Given the description of an element on the screen output the (x, y) to click on. 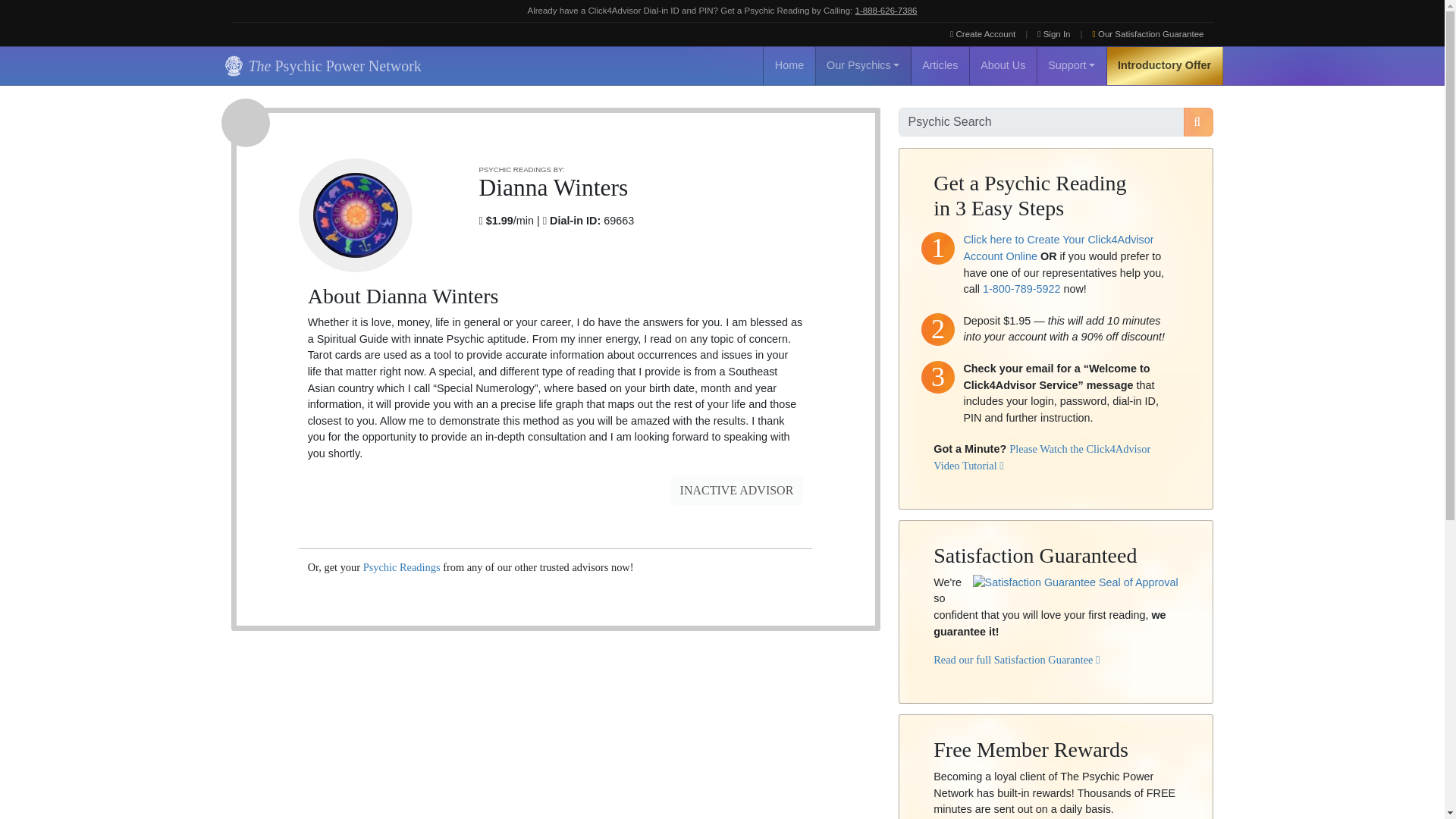
Read our full Satisfaction Guarantee  (1016, 659)
The Psychic Power Network (320, 65)
The Psychic Power Network (320, 65)
Support (1071, 65)
Create Account (982, 33)
Please Watch the Click4Advisor Video Tutorial  (1041, 457)
Introductory Offer (1164, 65)
Home (788, 65)
About Us (1002, 65)
Sign In (1053, 33)
Home (788, 65)
Click here to Create Your Click4Advisor Account Online (1057, 247)
Our Psychics (863, 65)
Psychic Readings (401, 567)
Our Satisfaction Guarantee (1148, 33)
